Given the description of an element on the screen output the (x, y) to click on. 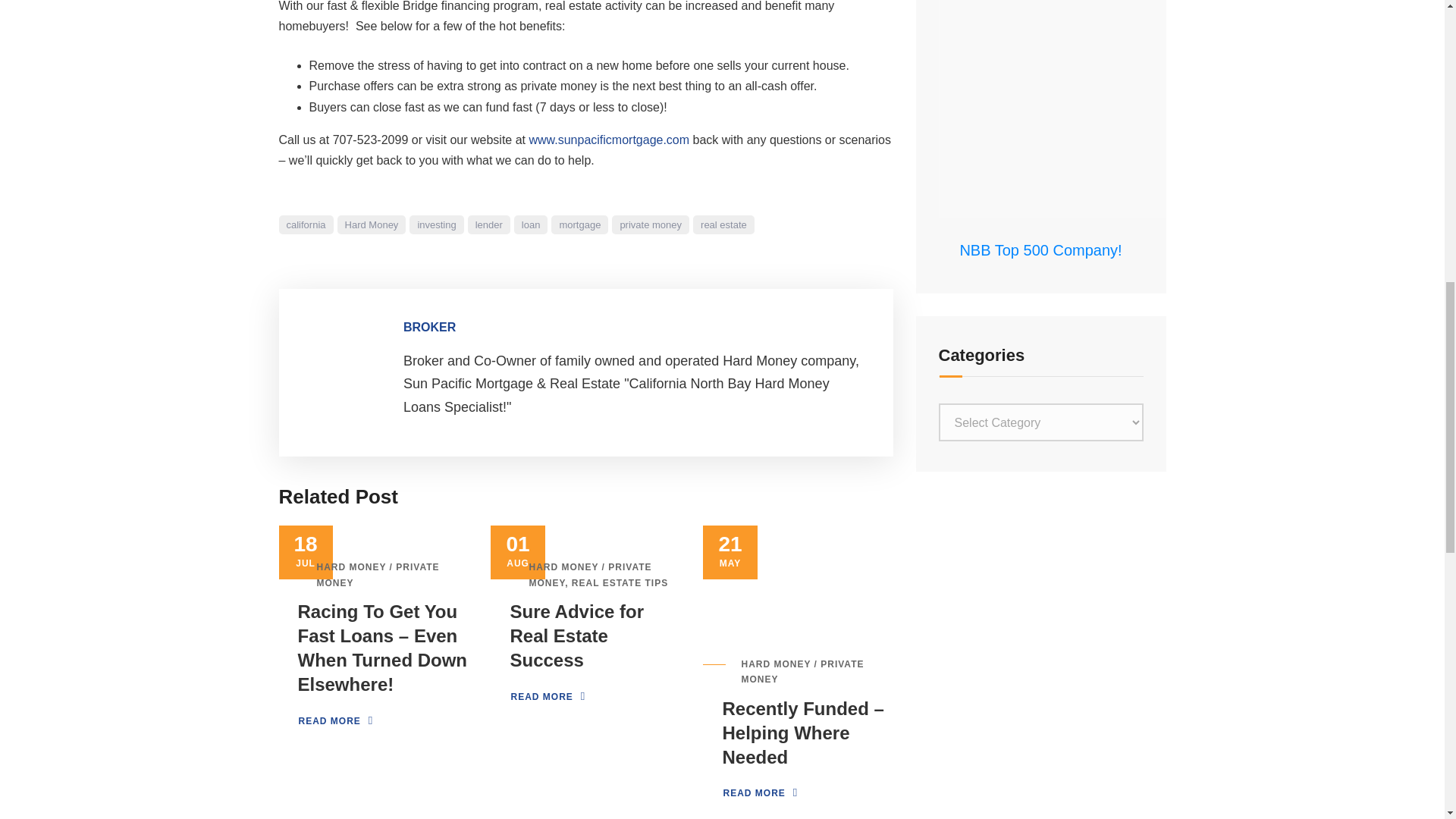
Posted by Broker (429, 327)
